Given the description of an element on the screen output the (x, y) to click on. 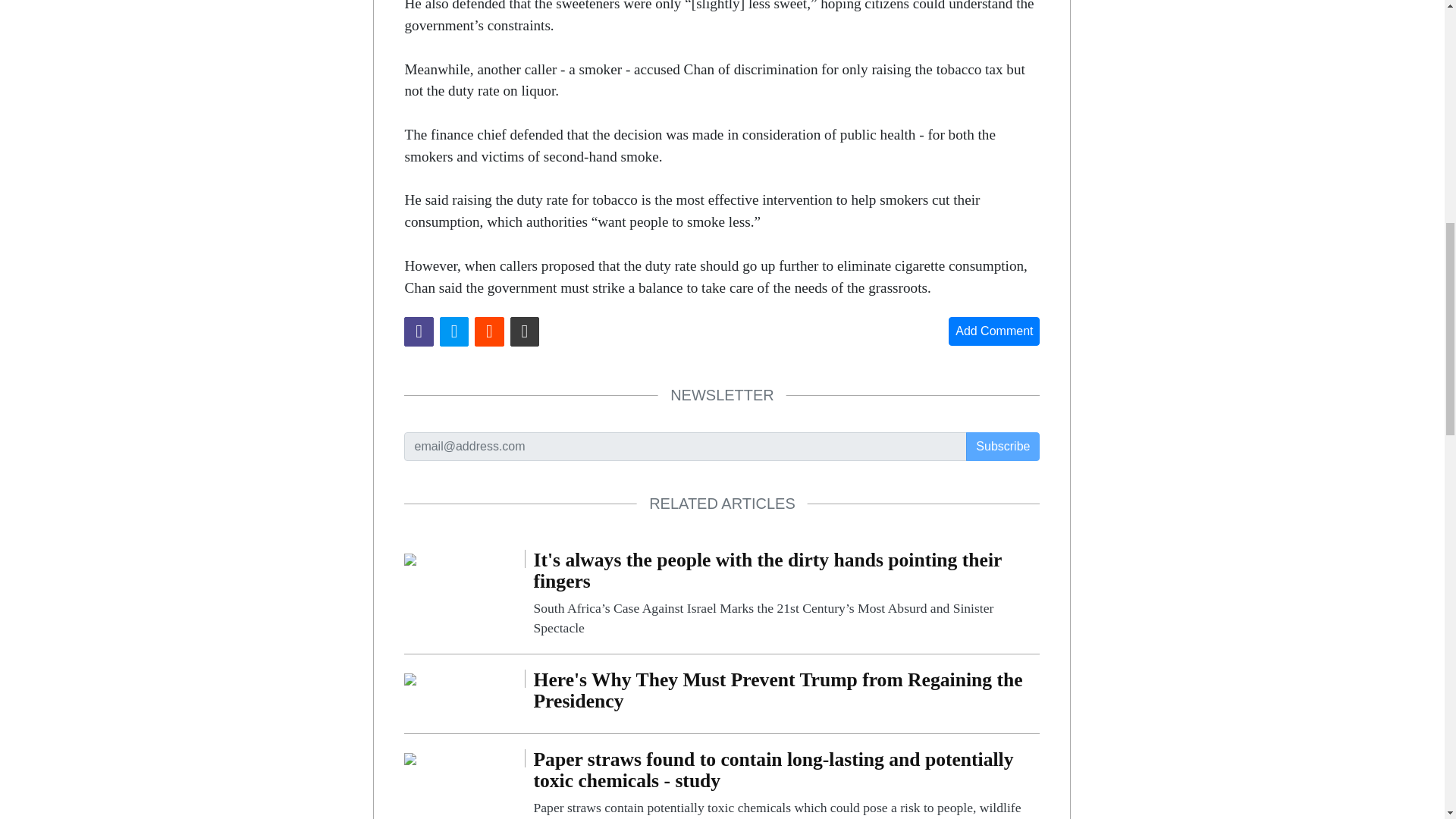
Subscribe (1002, 446)
Add Comment (994, 330)
